Given the description of an element on the screen output the (x, y) to click on. 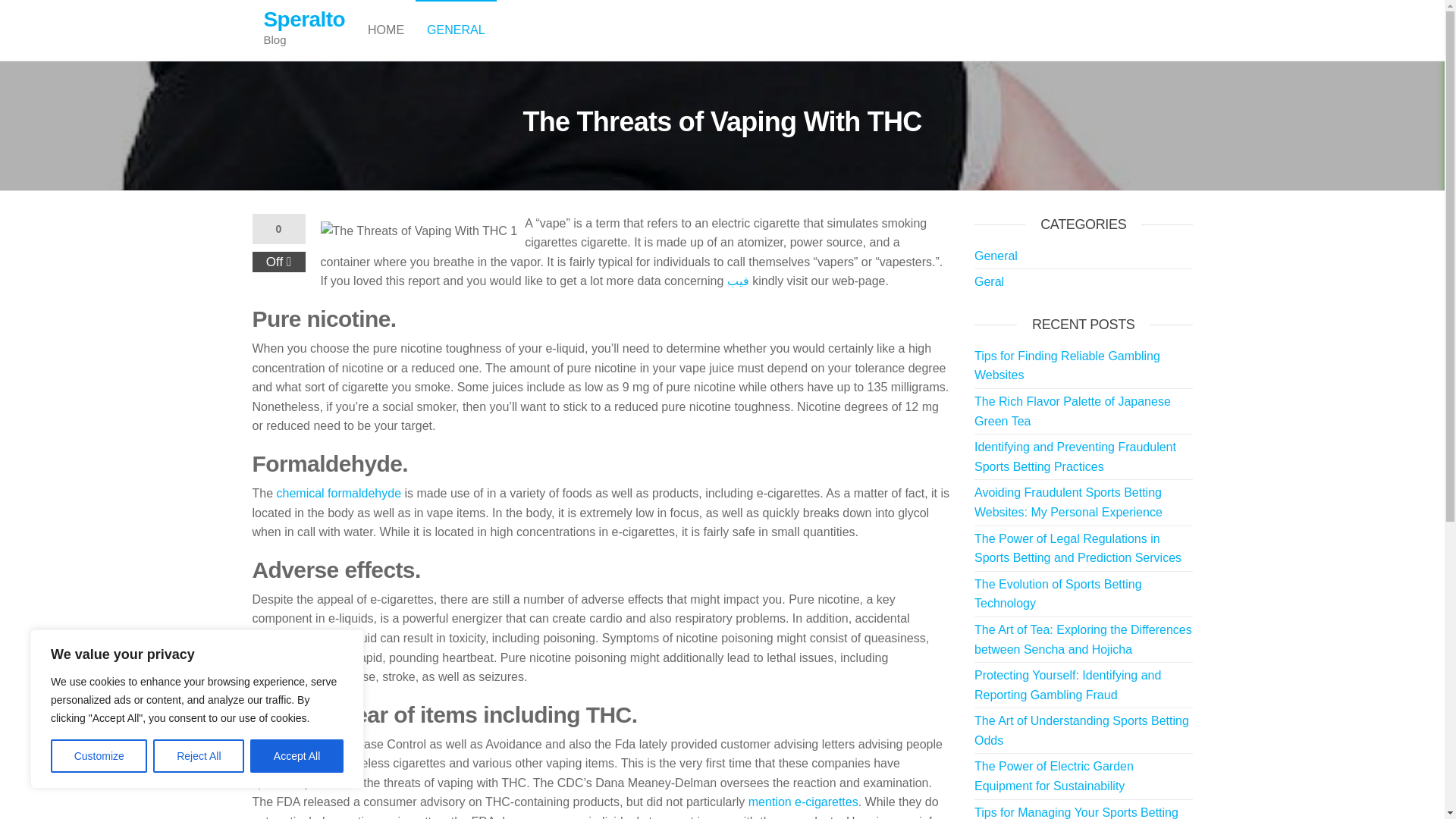
Customize (98, 756)
GENERAL (455, 30)
HOME (385, 30)
Tips for Finding Reliable Gambling Websites (1067, 365)
Speralto (304, 19)
mention e-cigarettes (803, 801)
chemical formaldehyde (338, 492)
The Rich Flavor Palette of Japanese Green Tea (1072, 410)
General (995, 255)
Accept All (296, 756)
Home (385, 30)
